Given the description of an element on the screen output the (x, y) to click on. 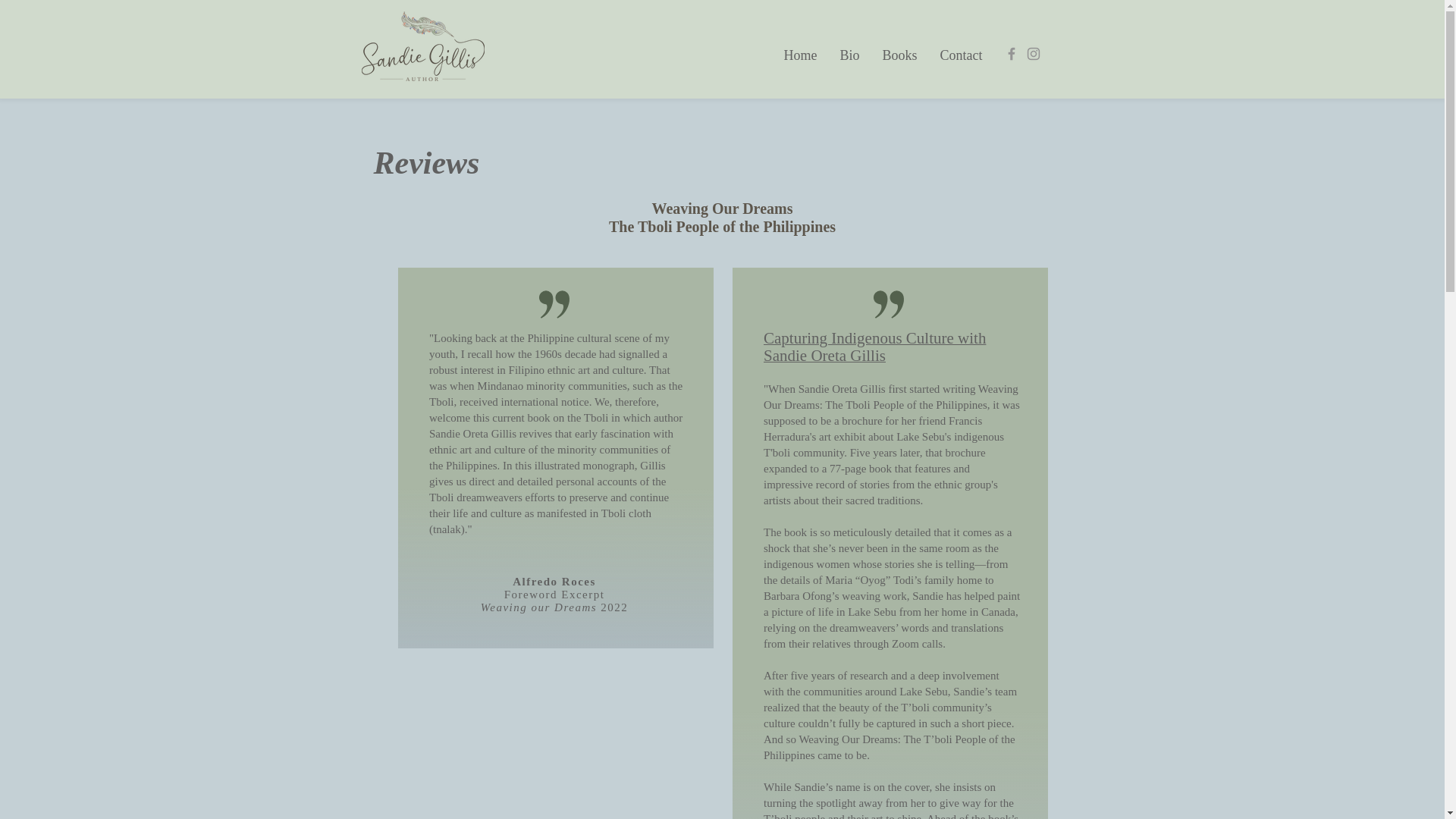
Books (899, 55)
Home (799, 55)
Contact (960, 55)
Capturing Indigenous Culture with Sandie Oreta Gillis (873, 348)
SandieGillis Logo Final-PNG.png (422, 46)
Bio (849, 55)
